Given the description of an element on the screen output the (x, y) to click on. 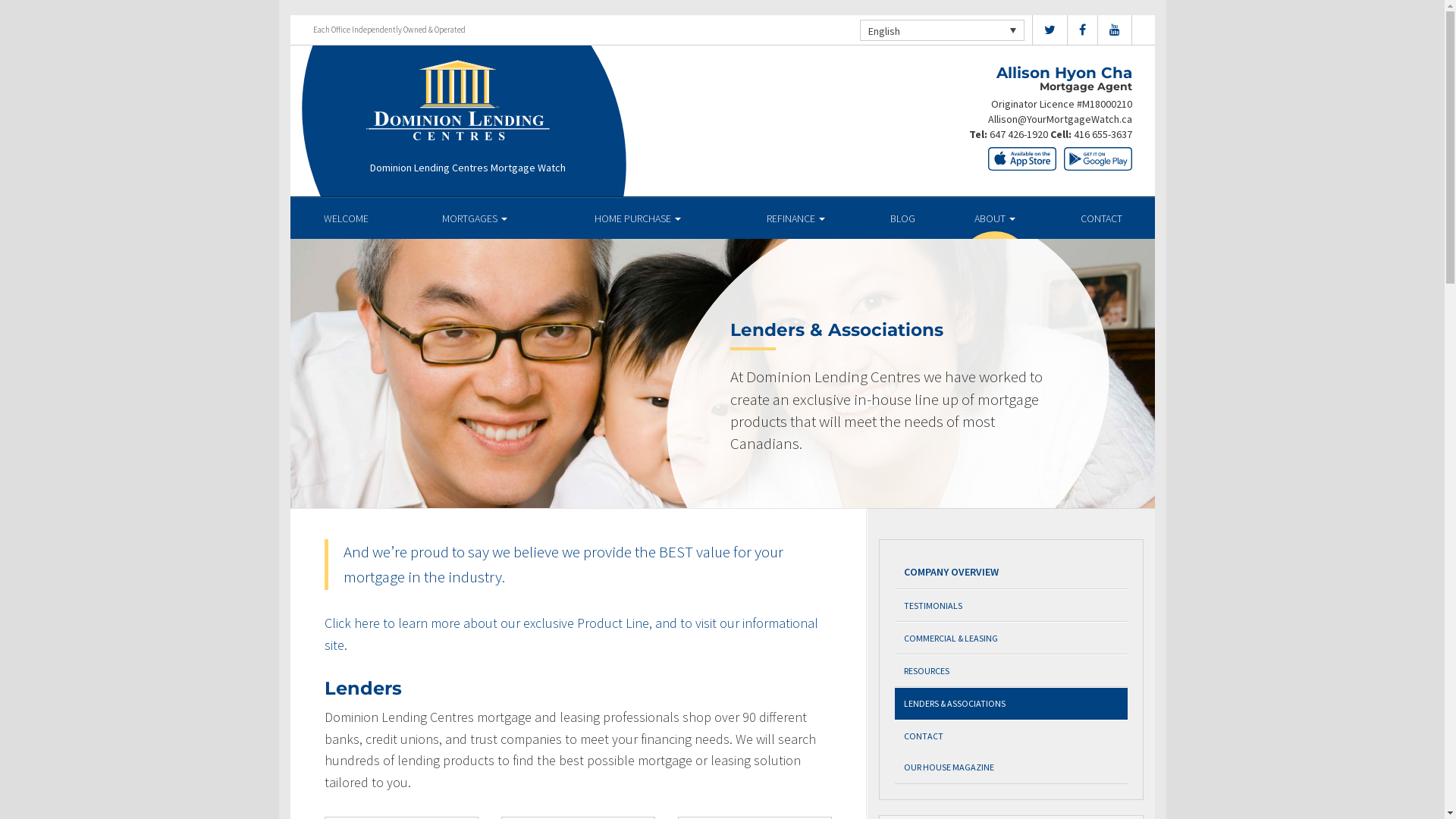
BLOG Element type: text (901, 217)
LENDERS & ASSOCIATIONS Element type: text (1010, 703)
REFINANCE Element type: text (795, 217)
RESOURCES Element type: text (1010, 670)
TESTIMONIALS Element type: text (1010, 605)
ABOUT Element type: text (994, 217)
CONTACT Element type: text (1010, 735)
416 655-3637 Element type: text (1102, 134)
CONTACT Element type: text (1101, 217)
COMMERCIAL & LEASING Element type: text (1010, 637)
COMPANY OVERVIEW Element type: text (1010, 572)
HOME PURCHASE Element type: text (637, 217)
Allison@YourMortgageWatch.ca Element type: text (1059, 118)
OUR HOUSE MAGAZINE Element type: text (1010, 767)
WELCOME Element type: text (345, 217)
MORTGAGES Element type: text (474, 217)
647 426-1920 Element type: text (1017, 134)
English Element type: text (941, 29)
